Given the description of an element on the screen output the (x, y) to click on. 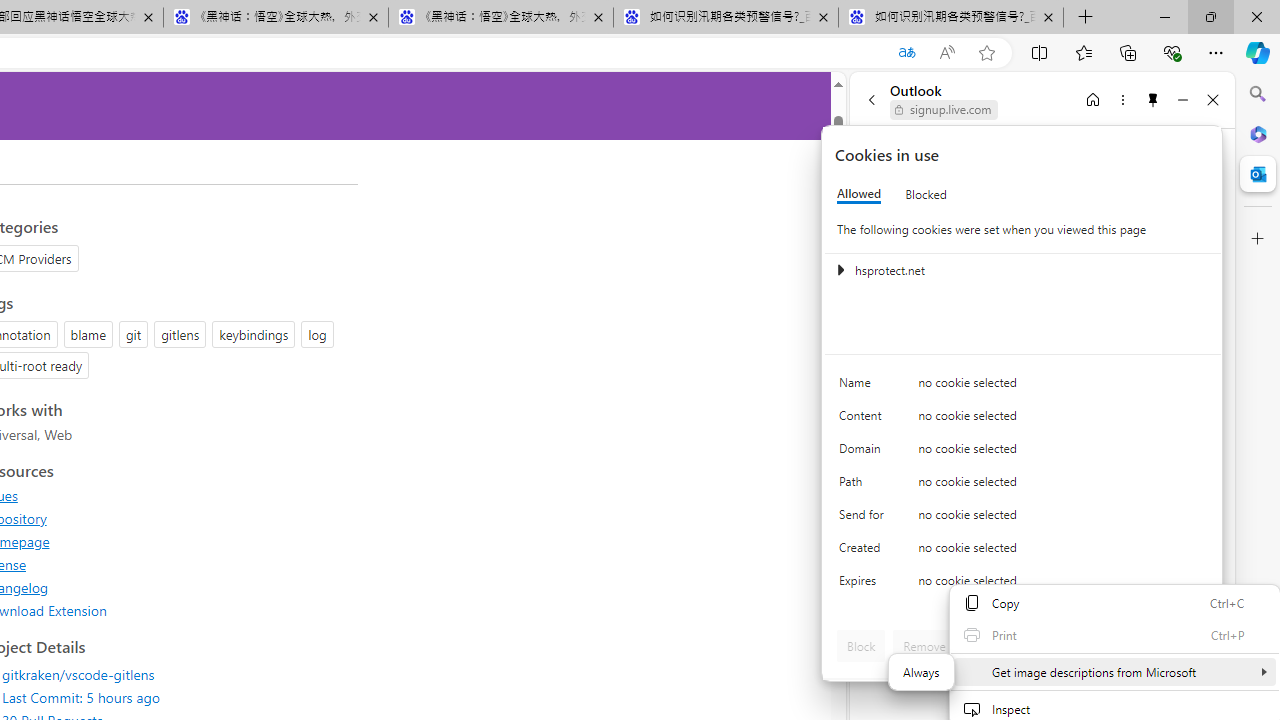
Copy (1114, 602)
Remove (924, 645)
Name (864, 387)
Path (864, 485)
Always (921, 671)
